Given the description of an element on the screen output the (x, y) to click on. 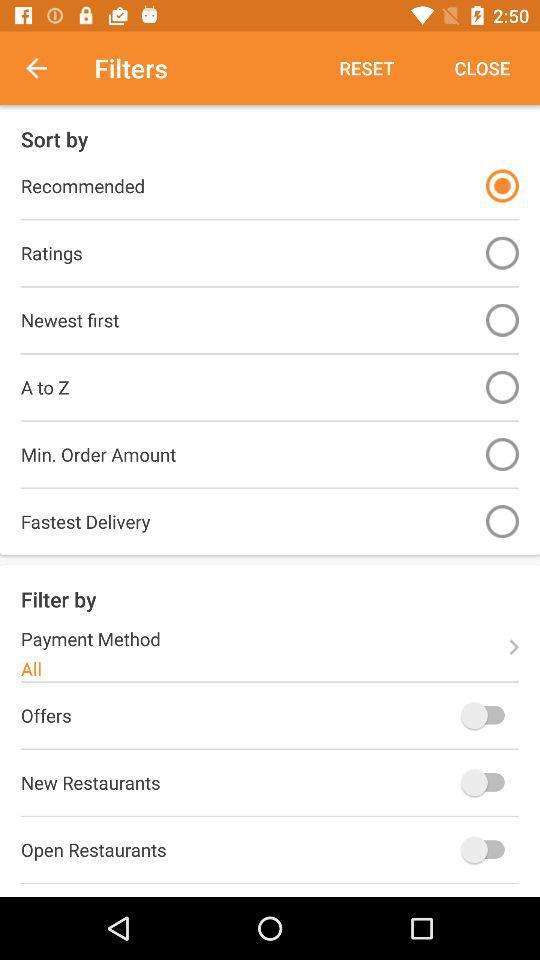
select delivery (502, 521)
